Given the description of an element on the screen output the (x, y) to click on. 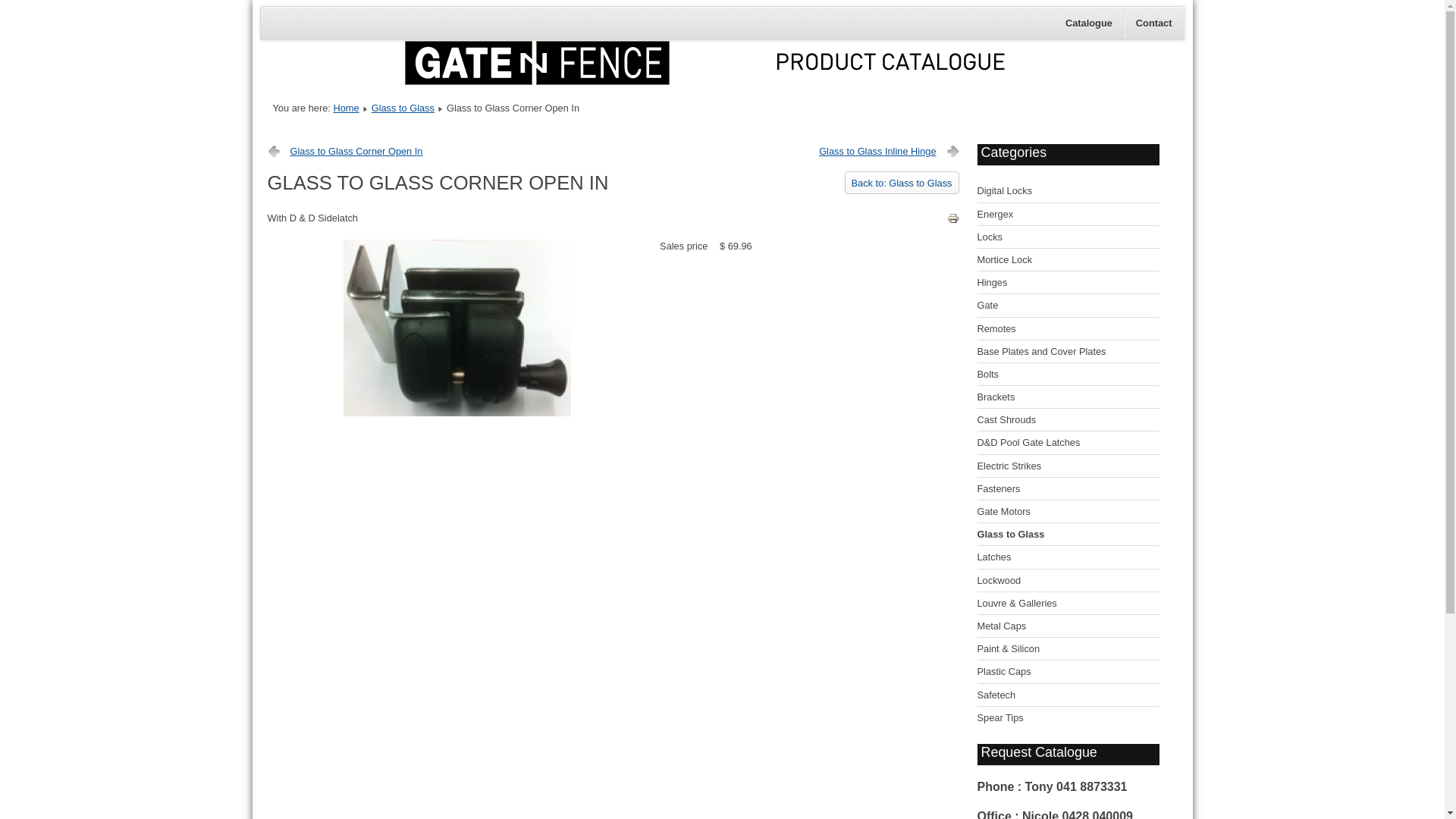
gcidd Element type: hover (457, 412)
Lockwood Element type: text (1067, 580)
Mortice Lock Element type: text (1067, 259)
Gate Element type: text (1067, 305)
Energex Element type: text (1067, 214)
Glass to Glass Inline Hinge Element type: text (888, 151)
Safetech Element type: text (1067, 695)
Plastic Caps Element type: text (1067, 671)
Latches Element type: text (1067, 557)
Fasteners Element type: text (1067, 488)
Bolts Element type: text (1067, 374)
Metal Caps Element type: text (1067, 626)
Gate Motors Element type: text (1067, 511)
Home Element type: text (345, 107)
Brackets Element type: text (1067, 396)
Cast Shrouds Element type: text (1067, 419)
Catalogue Element type: text (1089, 22)
D&D Pool Gate Latches Element type: text (1067, 442)
Glass to Glass Element type: text (402, 107)
Paint & Silicon Element type: text (1067, 648)
Glass to Glass Element type: text (1067, 534)
Locks Element type: text (1067, 236)
Spear Tips Element type: text (1067, 717)
Contact Element type: text (1154, 22)
Base Plates and Cover Plates Element type: text (1067, 351)
Digital Locks Element type: text (1067, 190)
Remotes Element type: text (1067, 328)
Back to: Glass to Glass Element type: text (901, 182)
Louvre & Galleries Element type: text (1067, 603)
Print Element type: hover (952, 220)
Electric Strikes Element type: text (1067, 466)
Glass to Glass Corner Open In Element type: text (344, 151)
Hinges Element type: text (1067, 282)
